Given the description of an element on the screen output the (x, y) to click on. 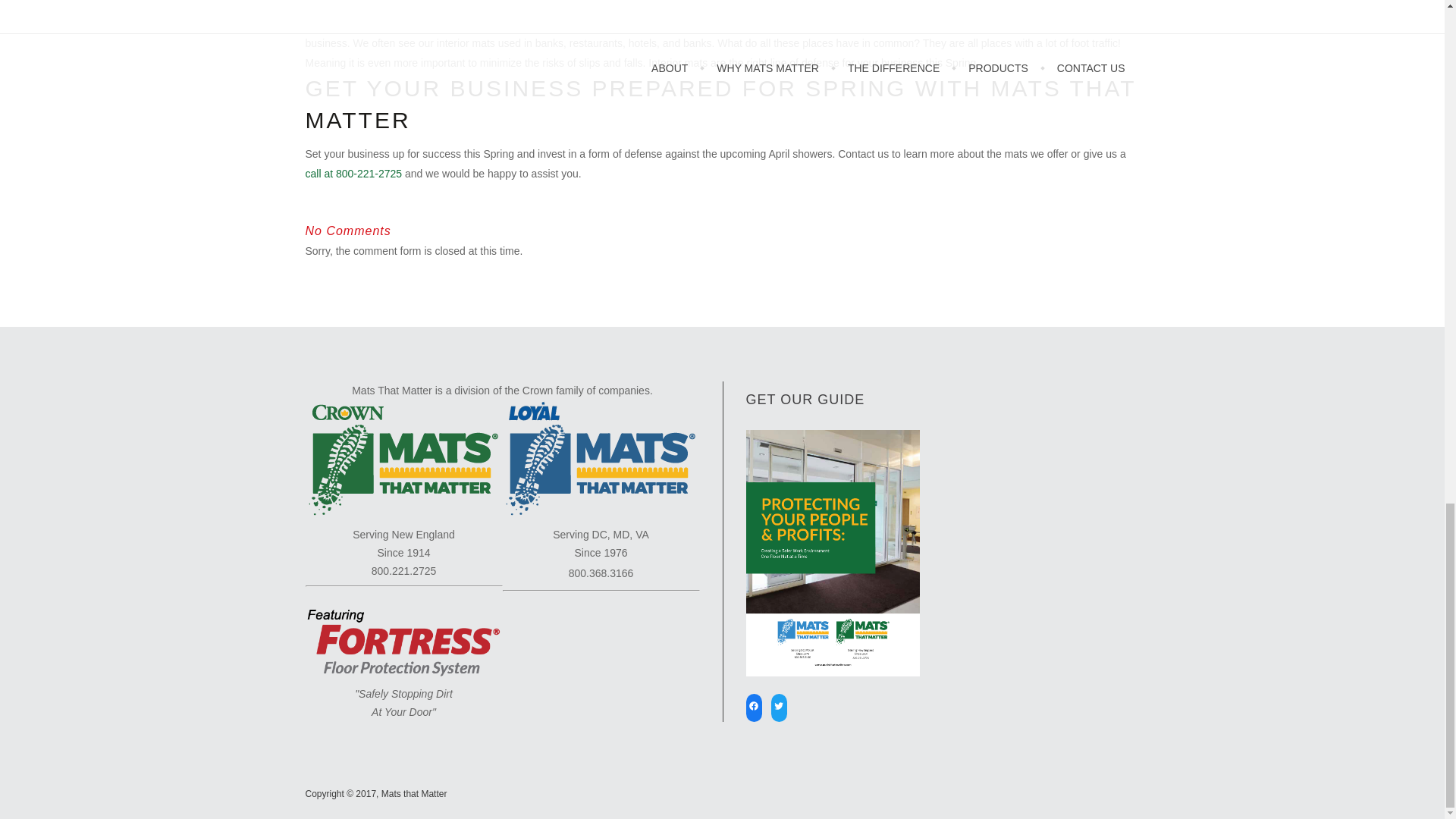
call at 800-221-2725 (352, 173)
